Given the description of an element on the screen output the (x, y) to click on. 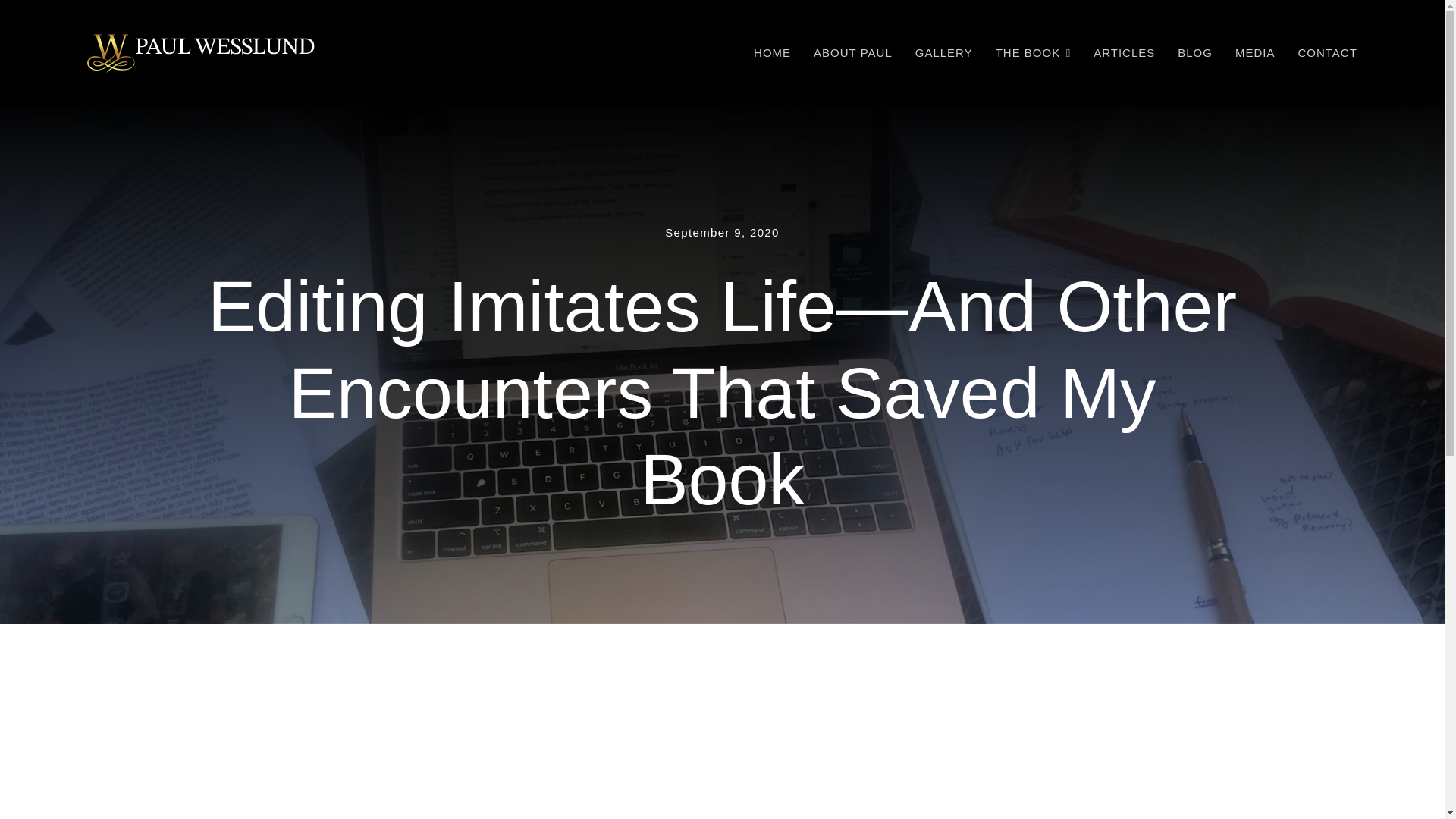
THE BOOK (1033, 53)
GALLERY (943, 53)
CONTACT (1326, 53)
ARTICLES (1123, 53)
ABOUT PAUL (852, 53)
